Given the description of an element on the screen output the (x, y) to click on. 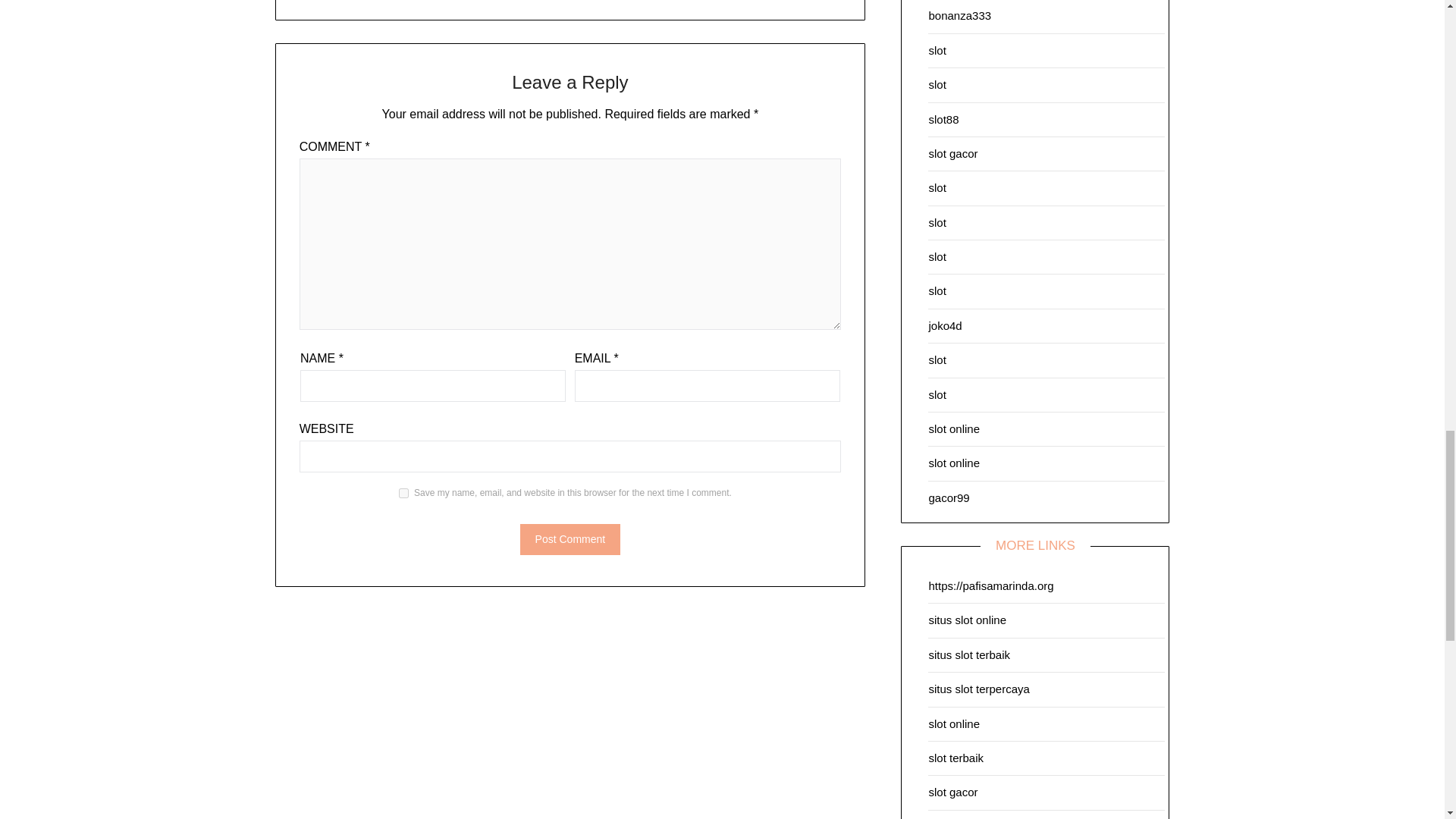
yes (403, 492)
Post Comment (570, 539)
Post Comment (570, 539)
